Given the description of an element on the screen output the (x, y) to click on. 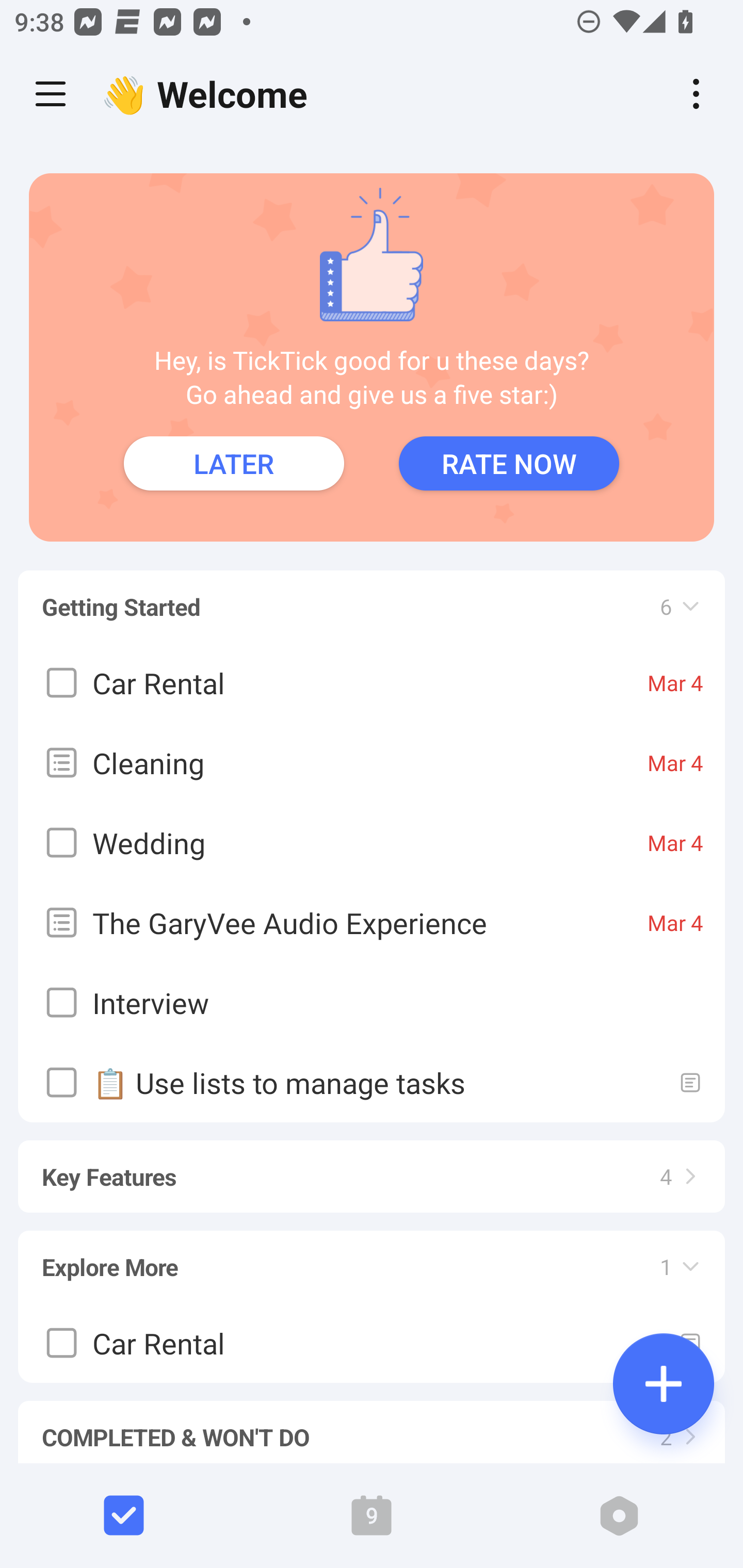
👋 Welcome (209, 93)
LATER (234, 462)
RATE NOW (508, 462)
Getting Started 6 (371, 596)
Car Rental Mar 4 (371, 682)
Mar 4 (675, 682)
Cleaning Mar 4 (371, 762)
Mar 4 (675, 762)
Wedding Mar 4 (371, 842)
Mar 4 (675, 842)
The GaryVee Audio Experience Mar 4 (371, 922)
Mar 4 (675, 922)
Interview (371, 1002)
📋 Use lists to manage tasks (371, 1082)
Key Features 4 (371, 1167)
Explore More 1 (371, 1257)
Car Rental (371, 1342)
COMPLETED & WON'T DO 2 (371, 1422)
